Given the description of an element on the screen output the (x, y) to click on. 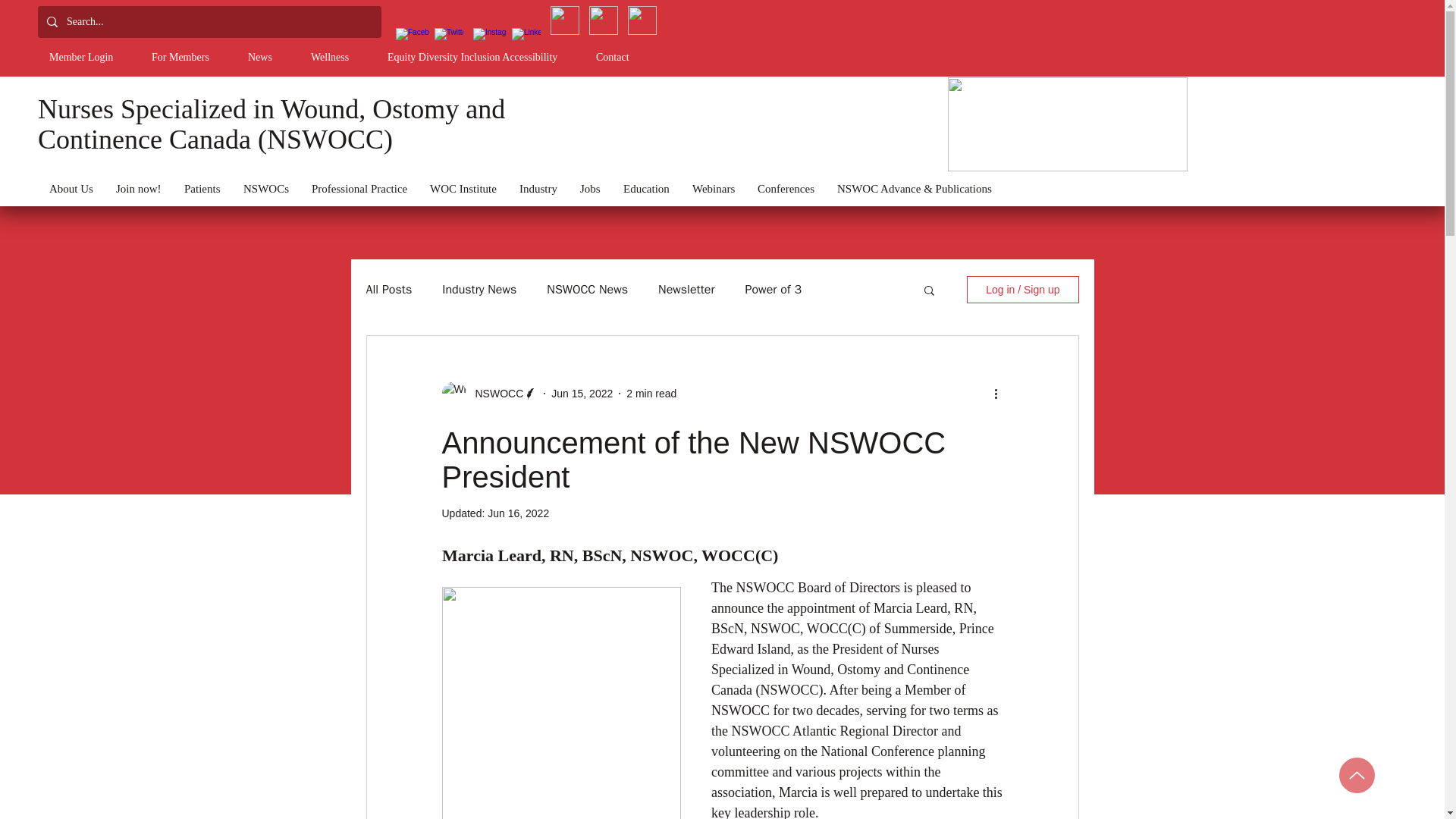
Jun 15, 2022 (581, 392)
2 min read (651, 392)
Join now! (138, 188)
Jun 16, 2022 (517, 512)
Contact (620, 57)
News (267, 57)
Member Login (88, 57)
Equity Diversity Inclusion Accessibility (480, 57)
NSWOCC (493, 392)
Wellness (337, 57)
